Given the description of an element on the screen output the (x, y) to click on. 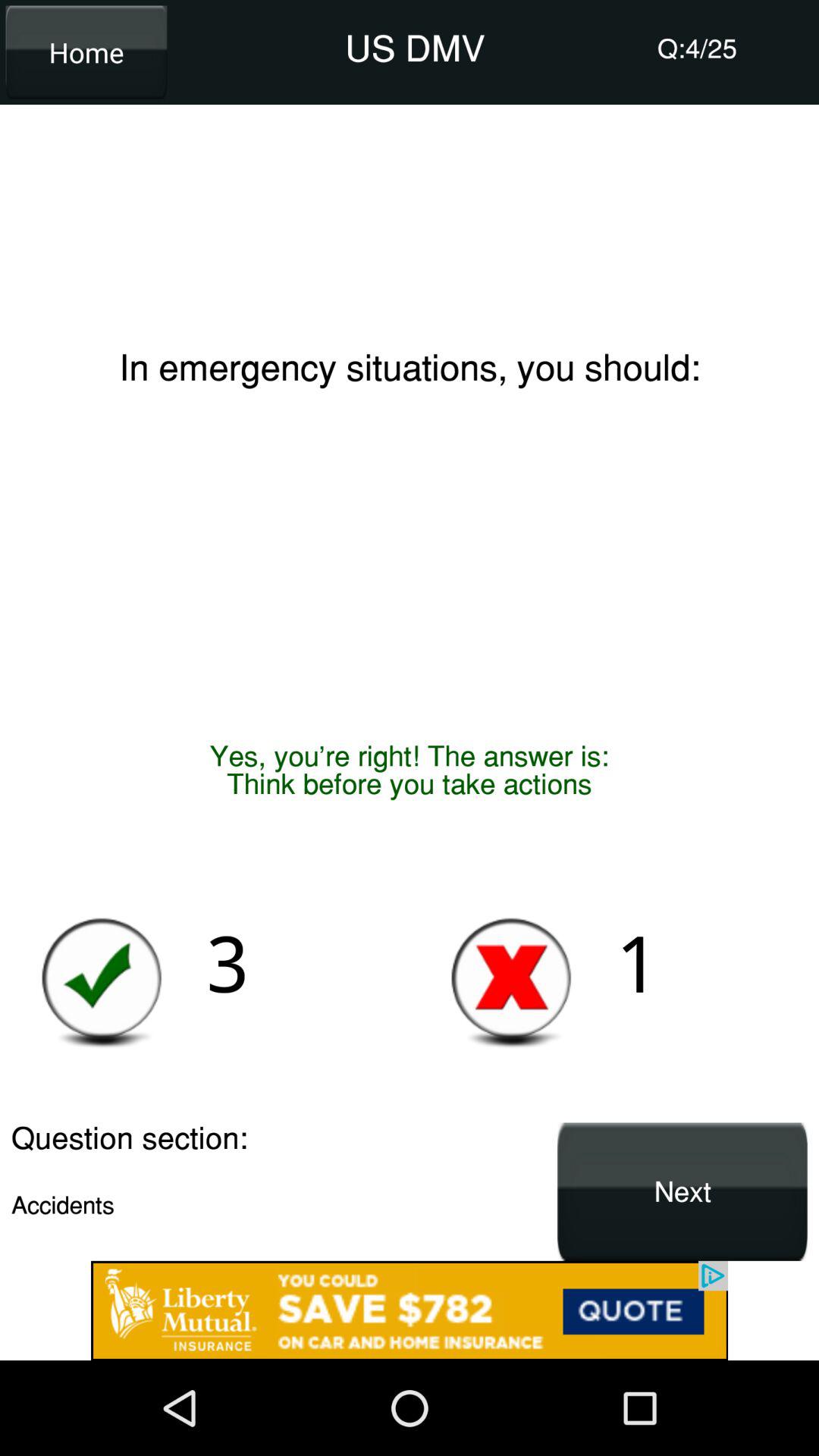
advertisement page (409, 1310)
